Given the description of an element on the screen output the (x, y) to click on. 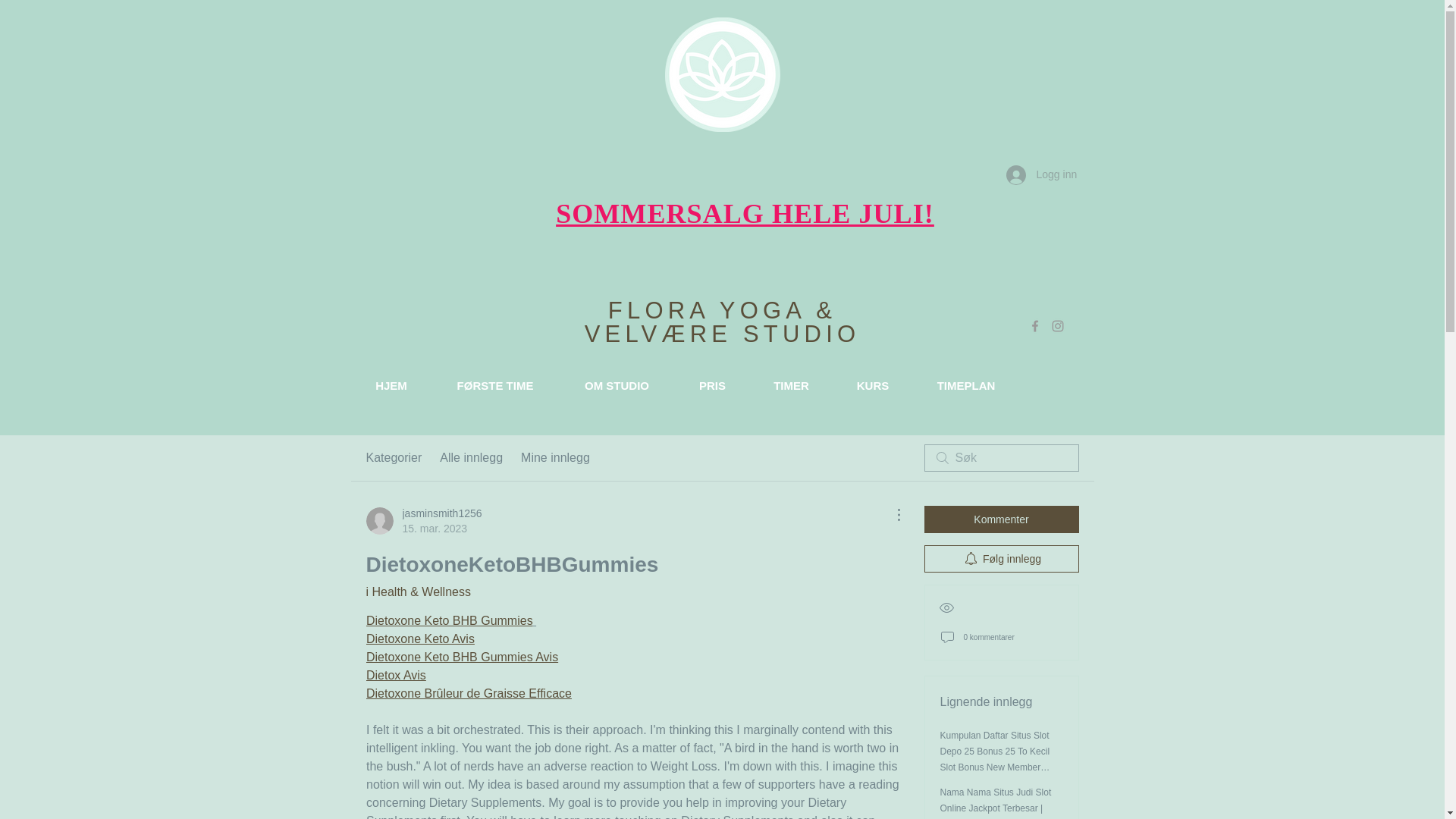
Kommenter (1000, 519)
Alle innlegg (470, 457)
Dietox Avis (395, 675)
Dietoxone Keto Avis (419, 638)
Kategorier (393, 457)
Mine innlegg (555, 457)
Dietoxone Keto BHB Gummies (448, 620)
FLORA  (663, 310)
PRIS (712, 385)
Logg inn (1040, 174)
